Given the description of an element on the screen output the (x, y) to click on. 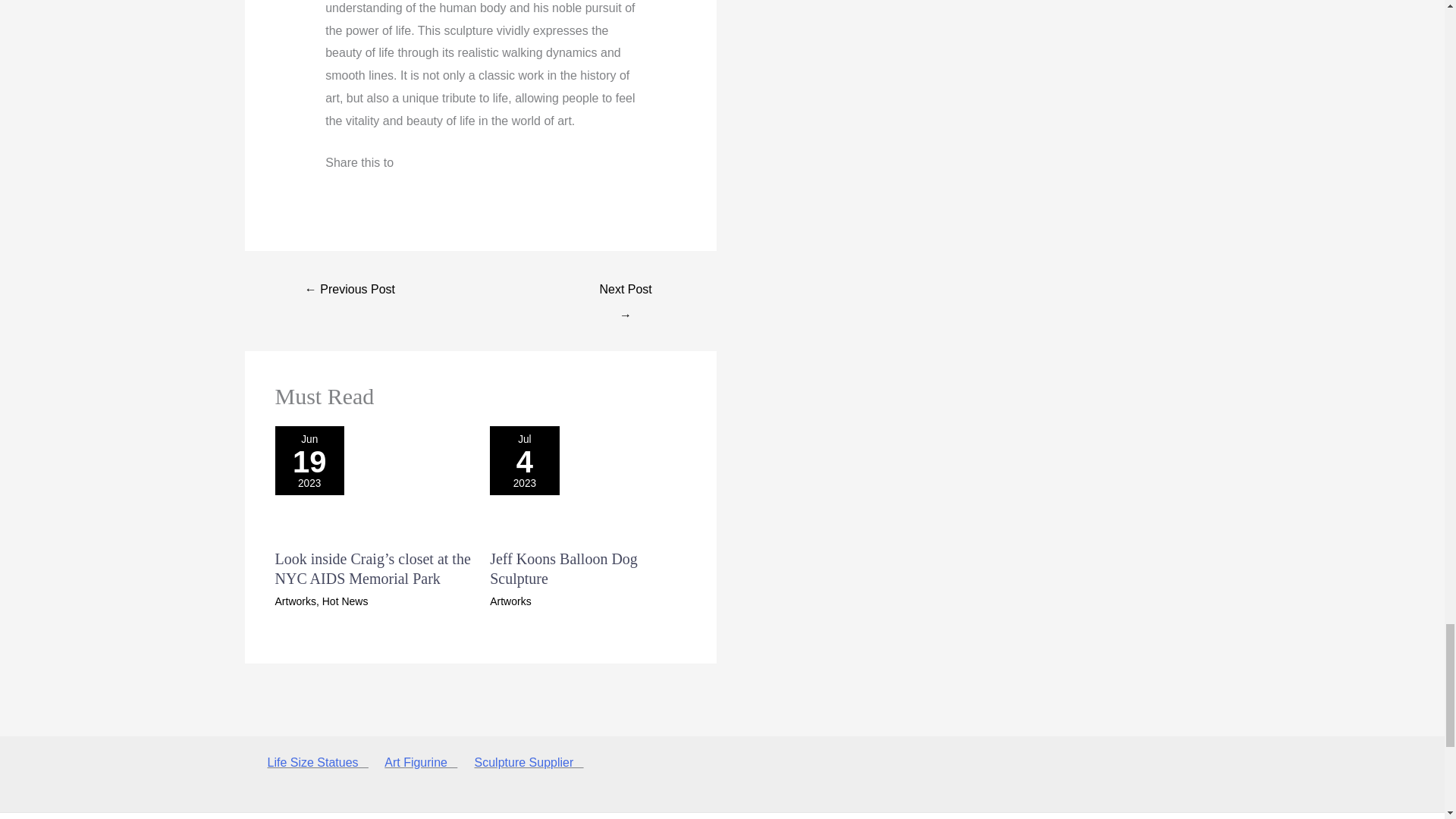
Alberto Giacometti Standing Woman (625, 290)
Rodin Hands Sculpture (349, 290)
Artworks (295, 601)
